Given the description of an element on the screen output the (x, y) to click on. 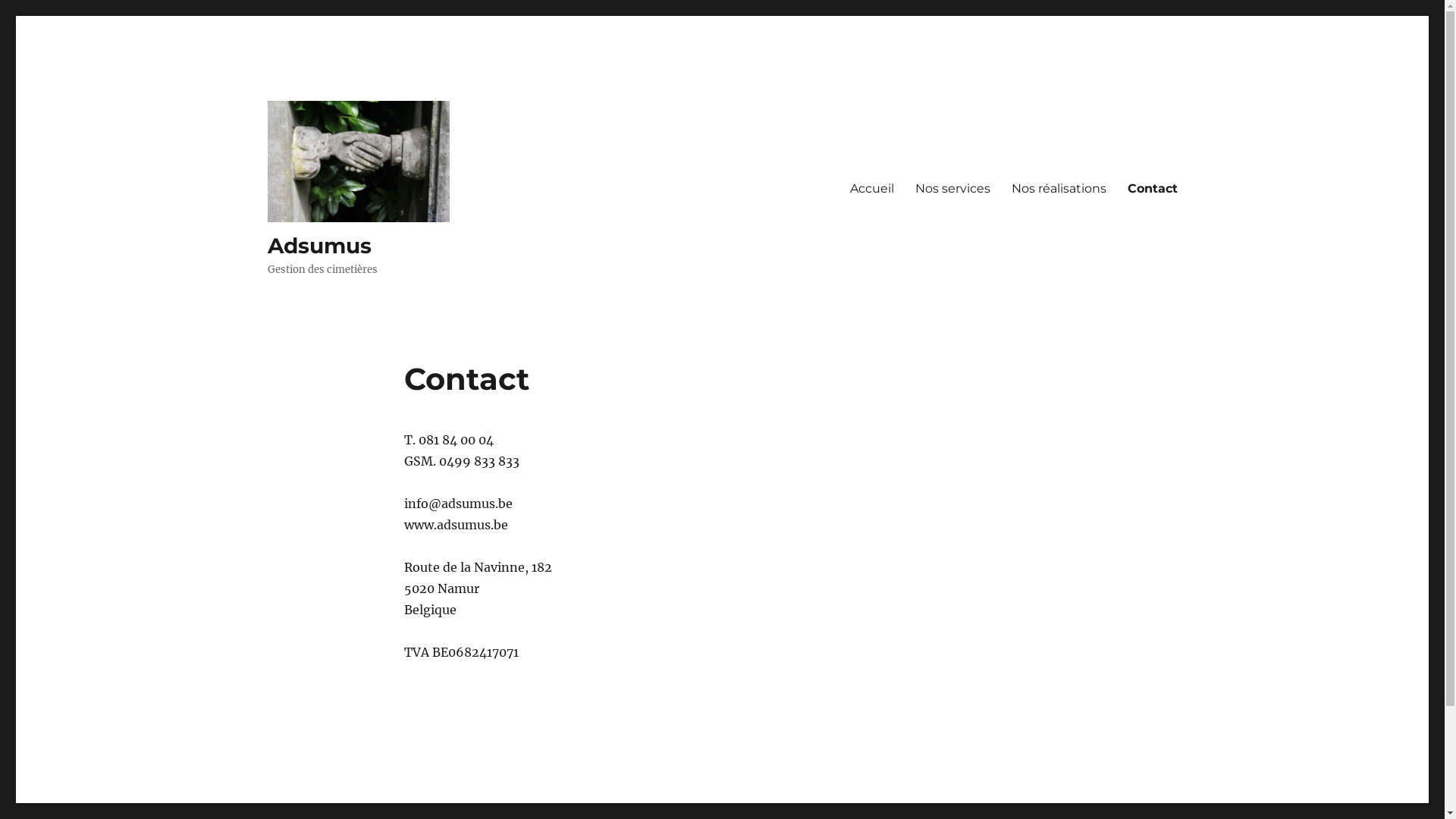
Adsumus Element type: text (318, 245)
Accueil Element type: text (870, 187)
Contact Element type: text (1151, 187)
Nos services Element type: text (951, 187)
